Given the description of an element on the screen output the (x, y) to click on. 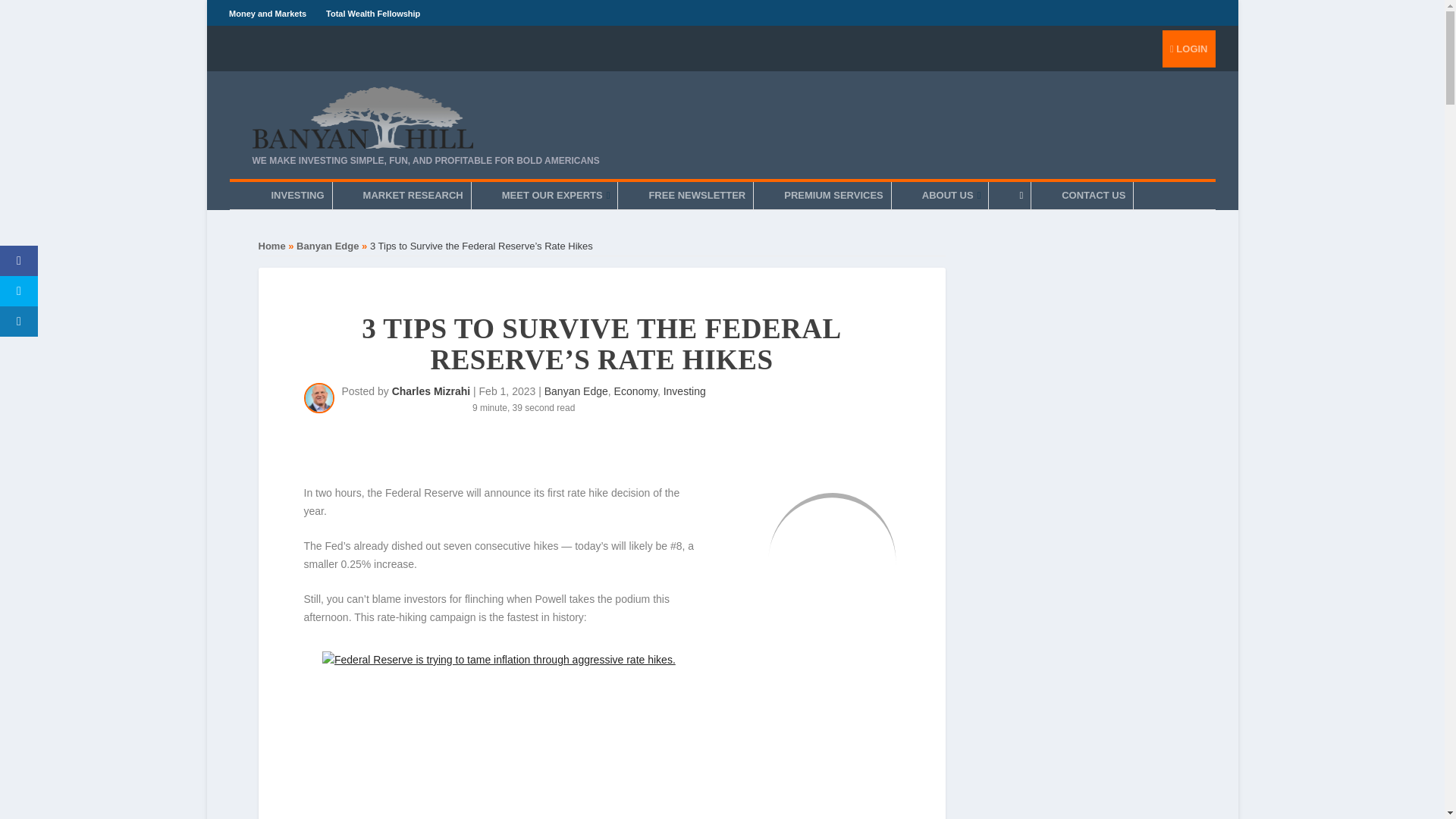
Market Research (412, 195)
INVESTING (297, 195)
Posts by Charles Mizrahi (430, 390)
Investing (684, 390)
ABOUT US (951, 195)
Total Wealth Fellowship (373, 13)
Charles Mizrahi (430, 390)
MEET OUR EXPERTS (556, 195)
MARKET RESEARCH (412, 195)
Banyan Edge (327, 245)
